Given the description of an element on the screen output the (x, y) to click on. 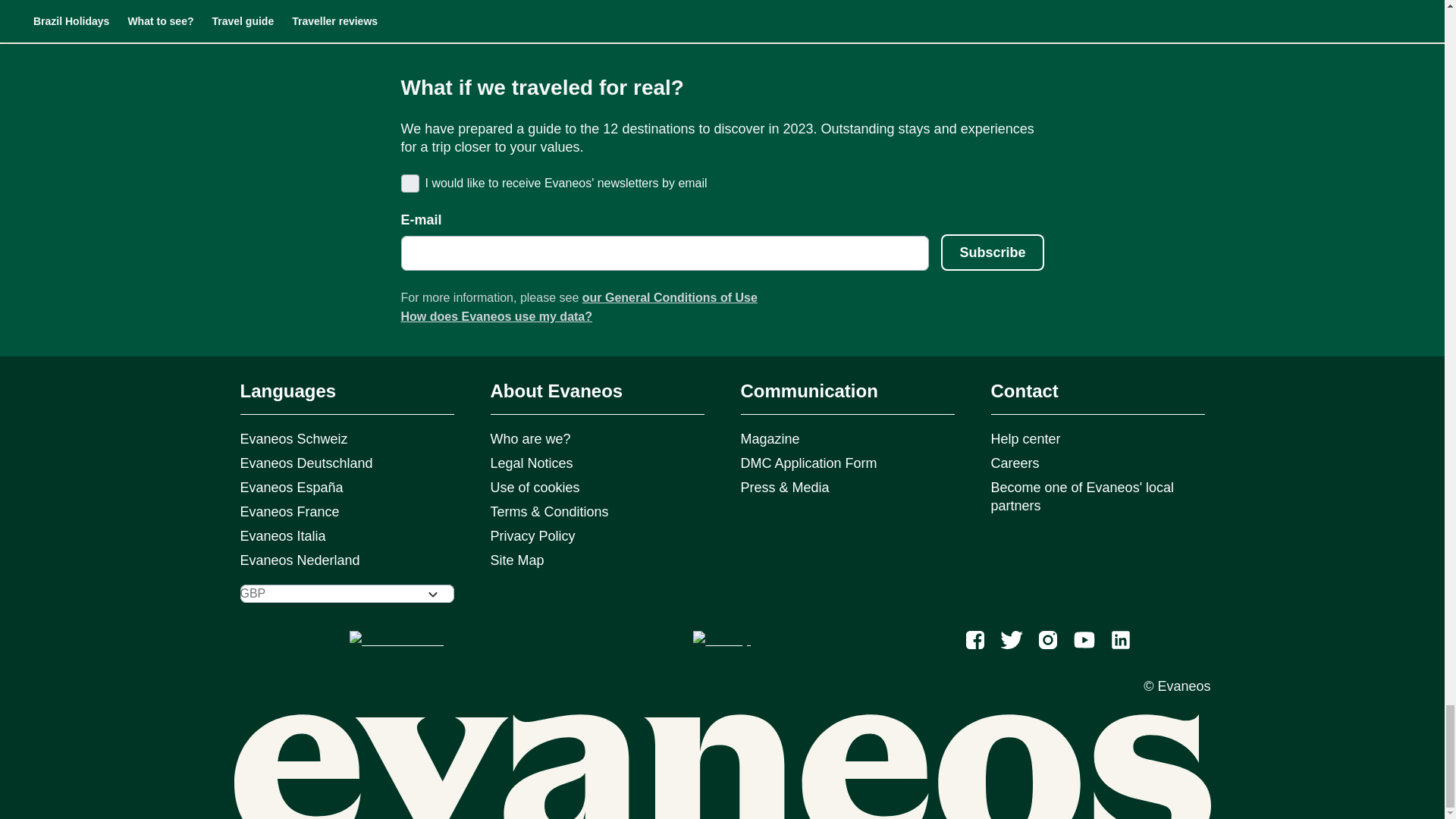
The advantages of Evaneos (300, 3)
on (408, 182)
Our Better Trips promise (430, 3)
Compensated carbon footprint (861, 3)
Who are we? (559, 3)
The best local agencies (722, 3)
